Given the description of an element on the screen output the (x, y) to click on. 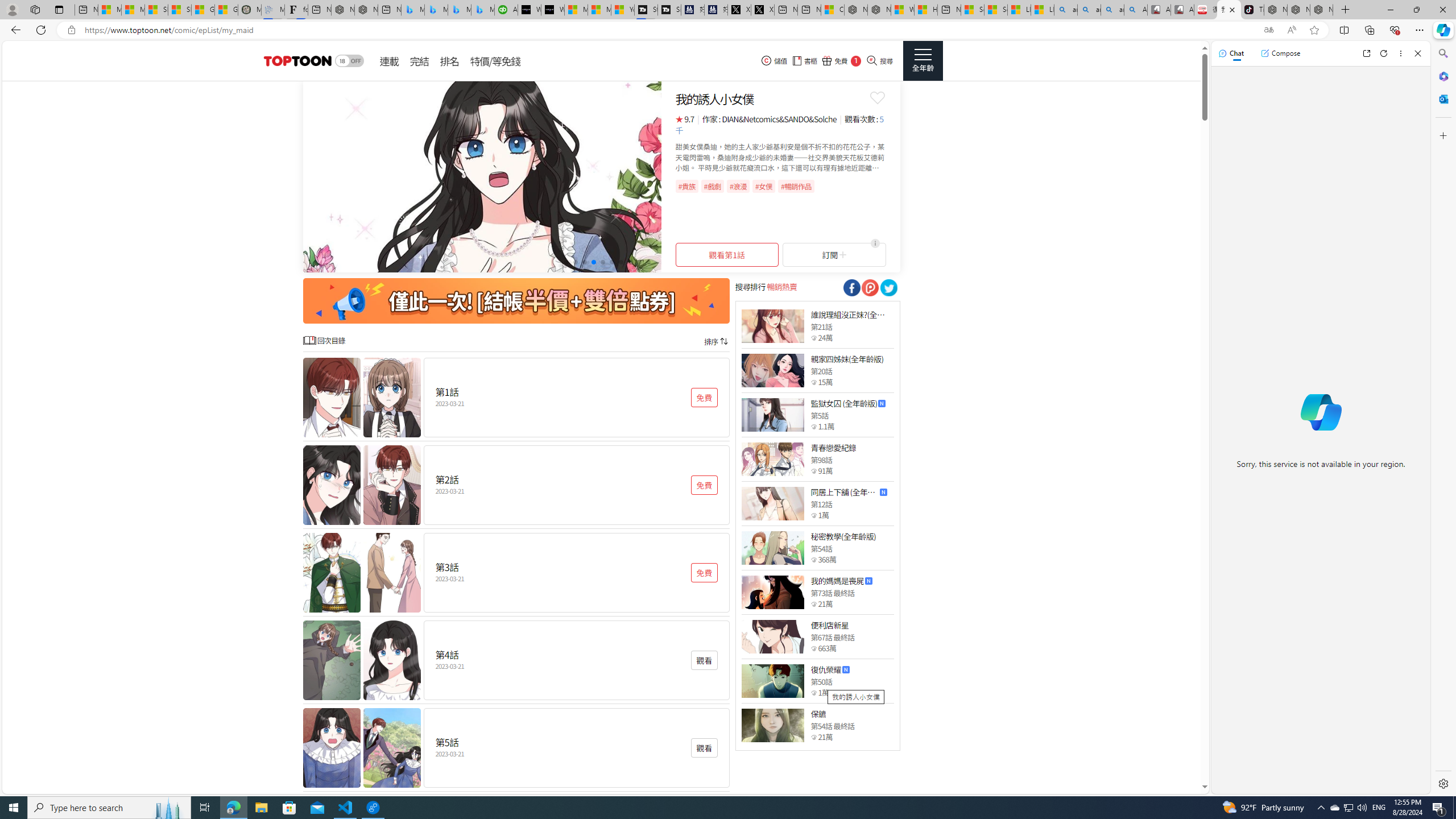
amazon - Search (1089, 9)
Streaming Coverage | T3 (645, 9)
TikTok (1252, 9)
Go to slide 5 (602, 261)
Microsoft Start Sports (575, 9)
Outlook (1442, 98)
